Given the description of an element on the screen output the (x, y) to click on. 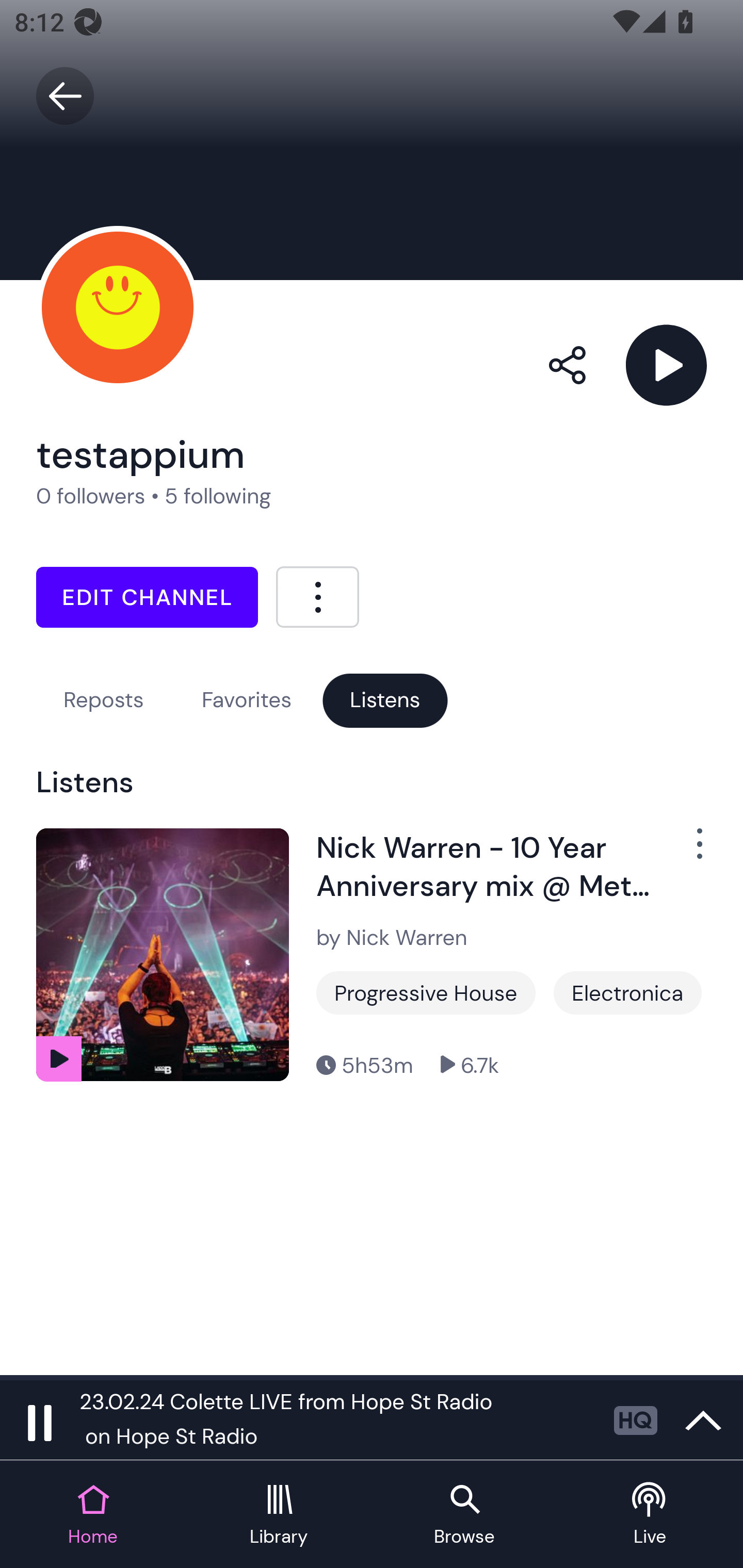
0 followers (90, 495)
5 following (217, 495)
More Menu (317, 596)
Edit Channel EDIT CHANNEL (146, 597)
Reposts (103, 699)
Favorites (246, 699)
Listens (384, 699)
Show Options Menu Button (688, 850)
Progressive House (425, 992)
Electronica (627, 992)
Home tab Home (92, 1515)
Library tab Library (278, 1515)
Browse tab Browse (464, 1515)
Live tab Live (650, 1515)
